Given the description of an element on the screen output the (x, y) to click on. 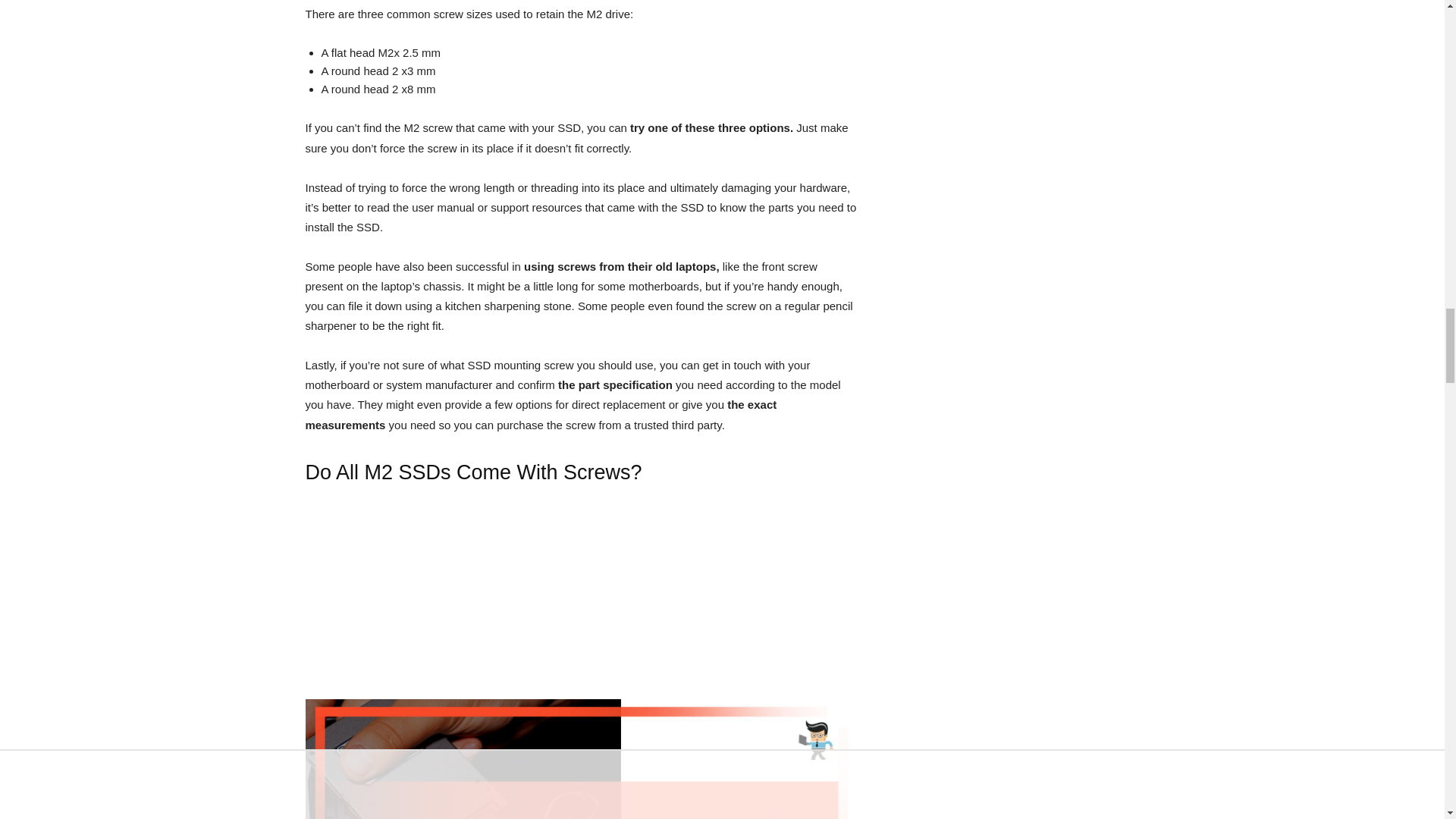
Can you use any screw for m (580, 759)
